Given the description of an element on the screen output the (x, y) to click on. 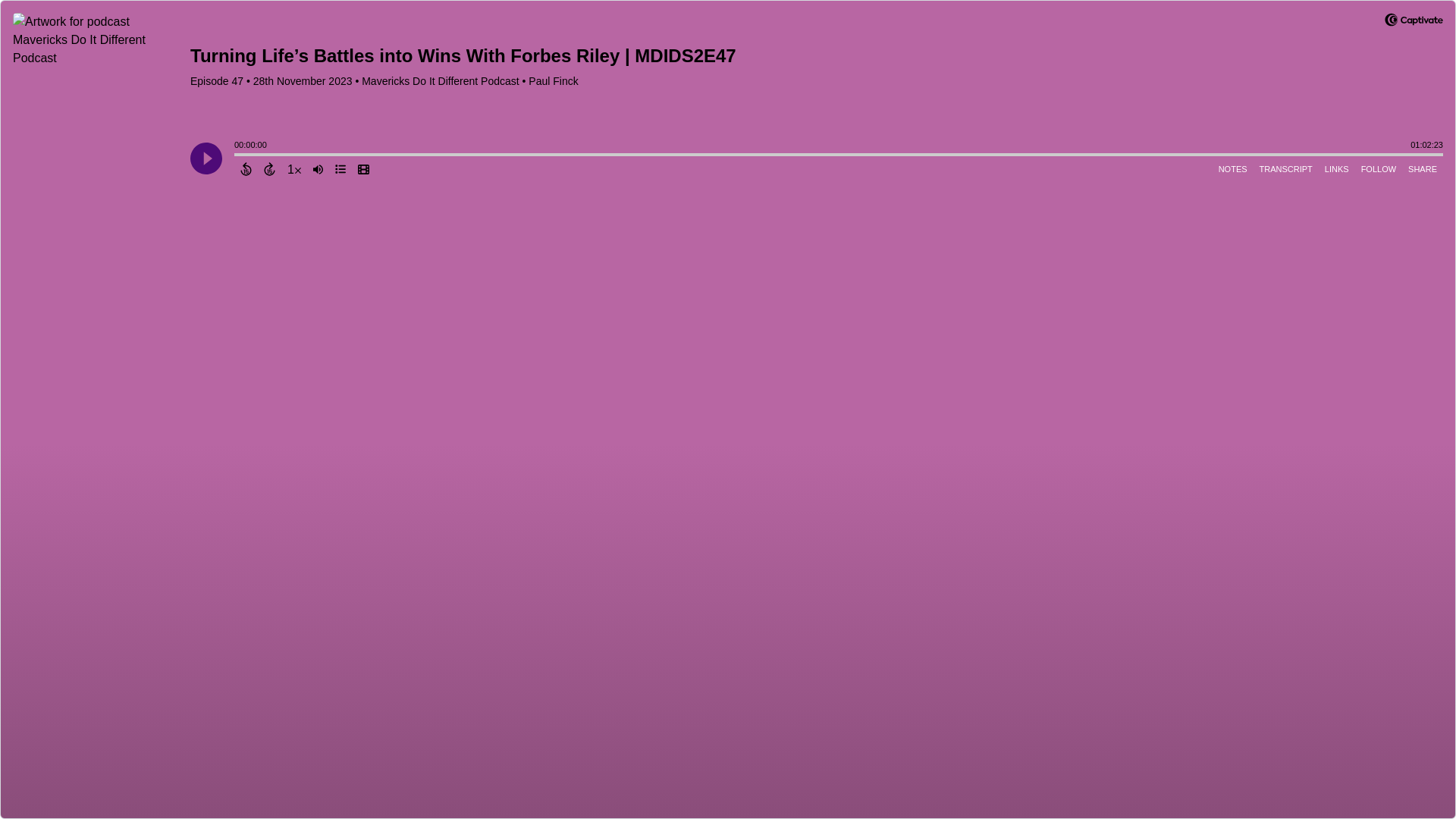
TRANSCRIPT (1286, 168)
1 (294, 168)
LINKS (1337, 168)
NOTES (1232, 168)
FOLLOW (1378, 168)
SHARE (1422, 168)
